Given the description of an element on the screen output the (x, y) to click on. 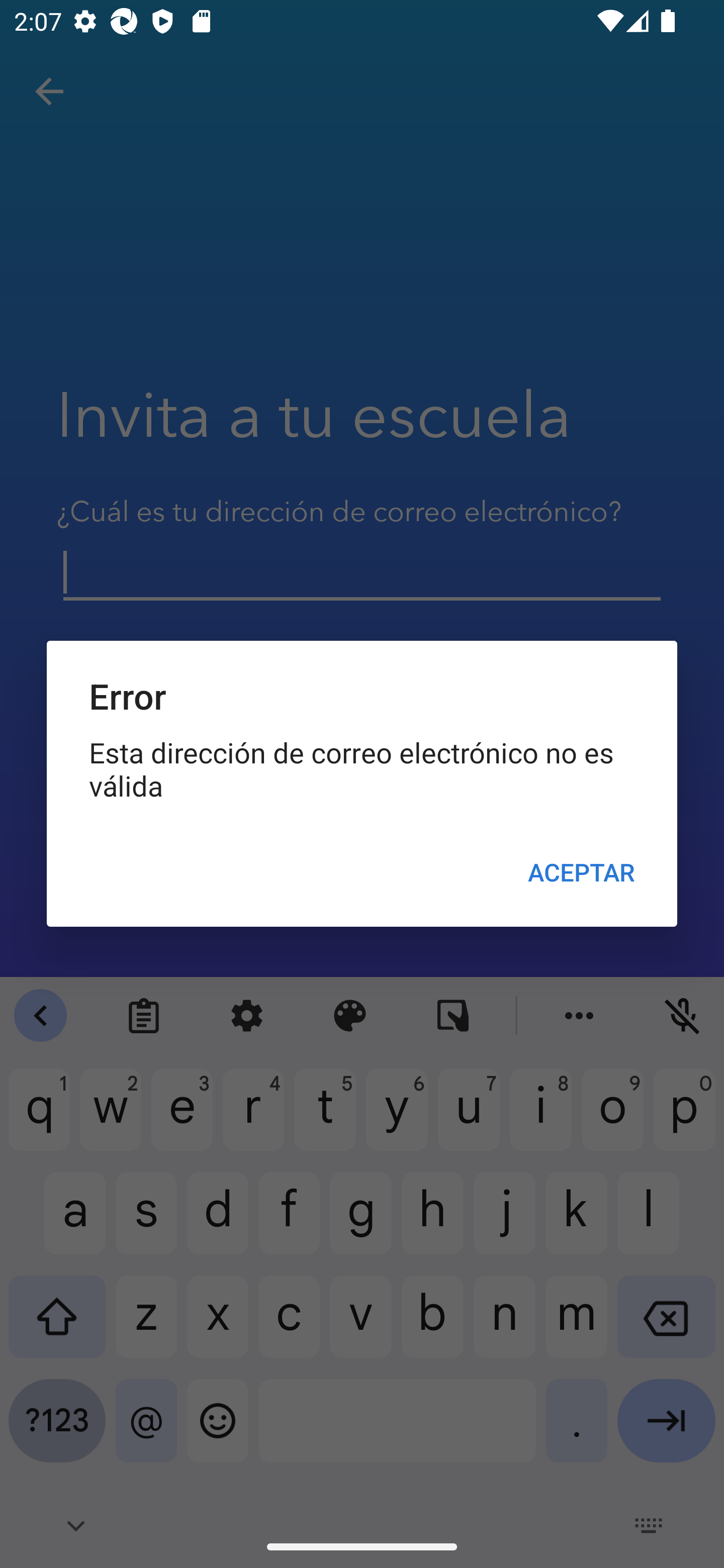
ACEPTAR (580, 872)
